Given the description of an element on the screen output the (x, y) to click on. 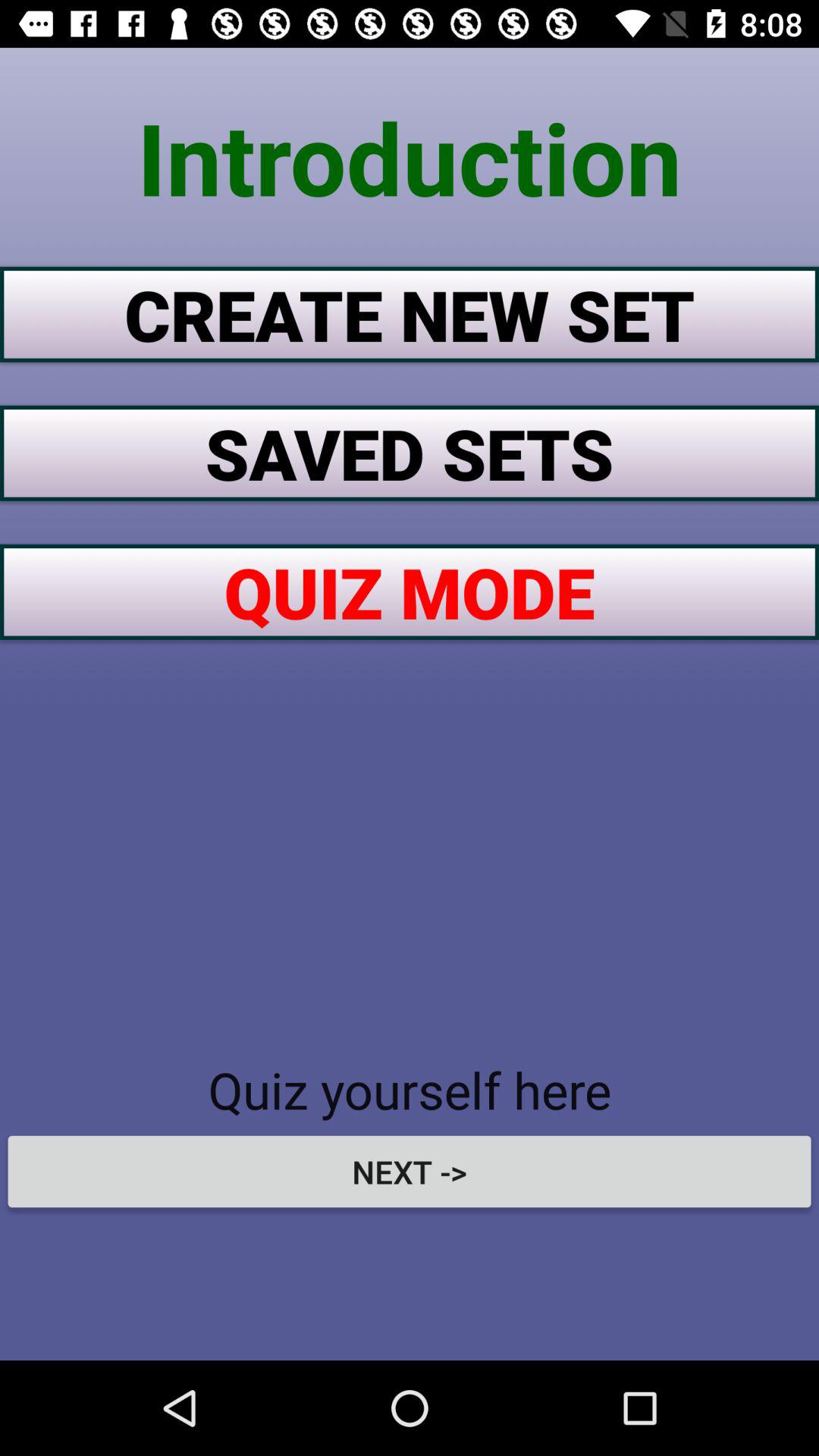
tap item below the saved sets item (409, 591)
